Given the description of an element on the screen output the (x, y) to click on. 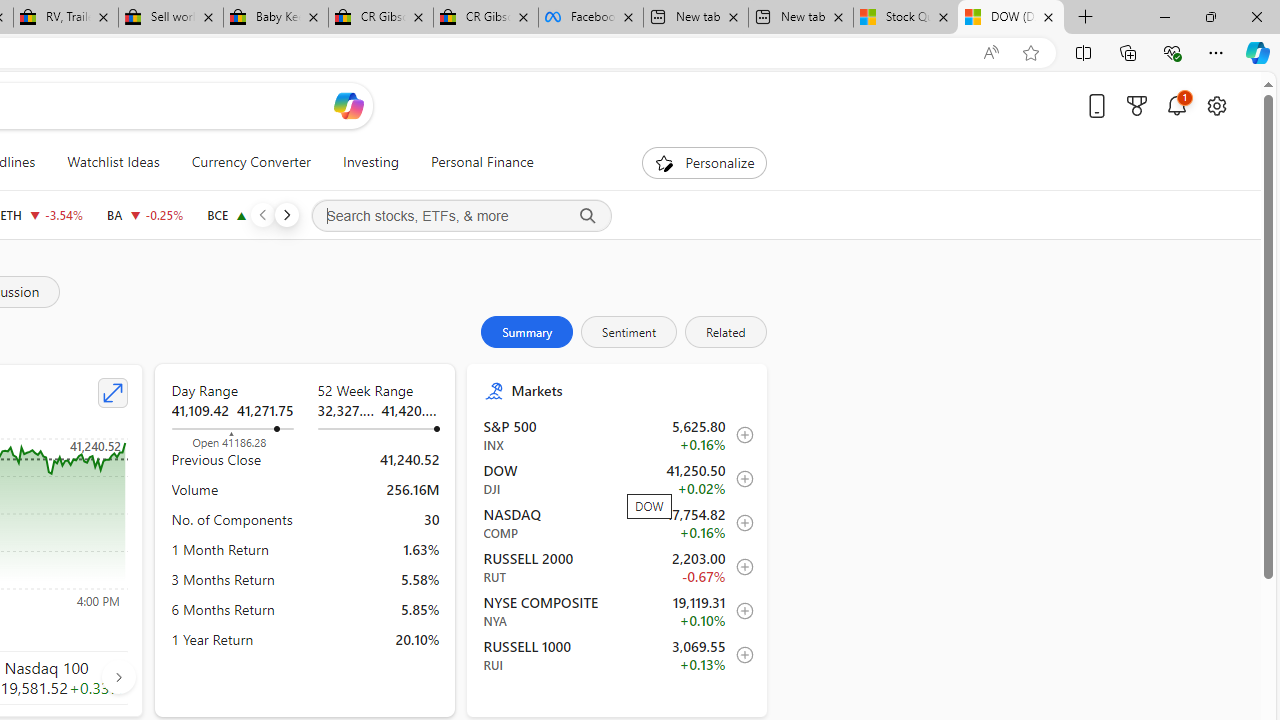
Related (724, 331)
Currency Converter (250, 162)
Previous (262, 214)
Sentiment (629, 331)
DJI DOW increase 41,250.50 +9.98 +0.02% itemundefined (617, 479)
Next (286, 214)
Personal Finance (473, 162)
Investing (370, 162)
